Given the description of an element on the screen output the (x, y) to click on. 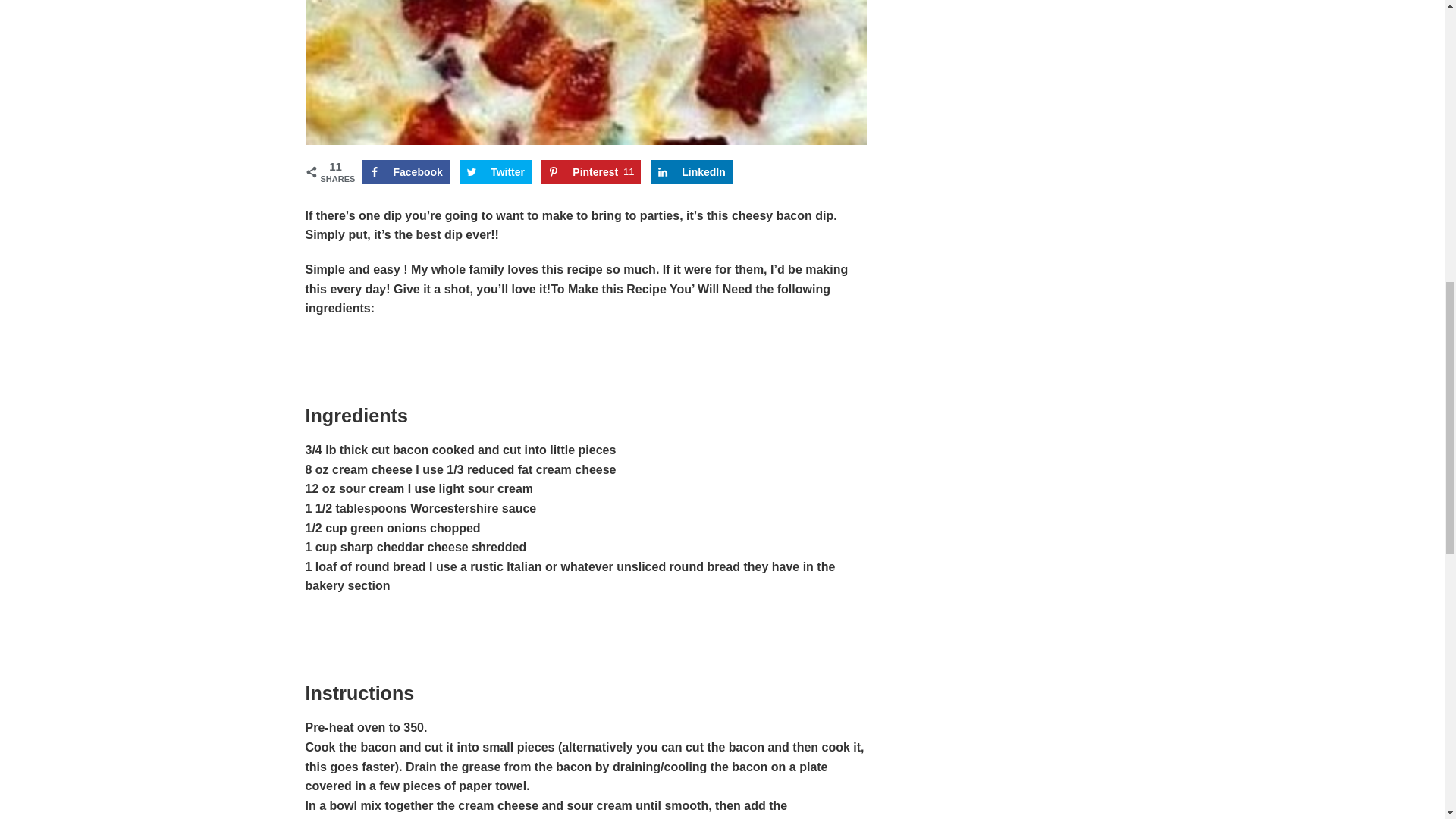
Share on LinkedIn (691, 171)
Save to Pinterest (590, 171)
Share on Facebook (405, 171)
Facebook (405, 171)
LinkedIn (691, 171)
Twitter (495, 171)
Share on Twitter (495, 171)
